Given the description of an element on the screen output the (x, y) to click on. 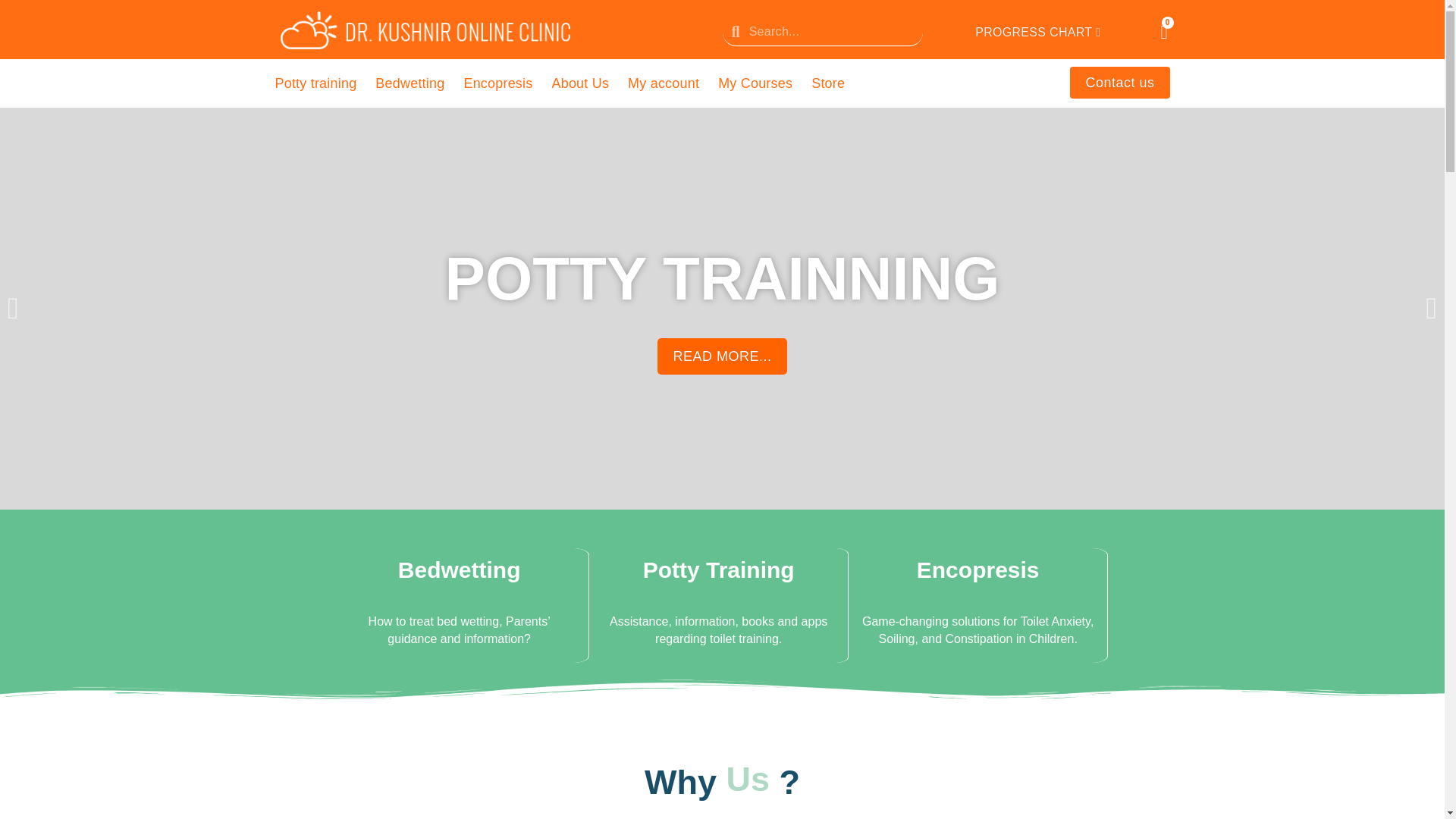
Bedwetting (409, 82)
PROGRESS CHART (1037, 32)
My Courses (754, 82)
My account (662, 82)
Potty training (315, 82)
Encopresis (497, 82)
About Us (579, 82)
Store (827, 82)
